Given the description of an element on the screen output the (x, y) to click on. 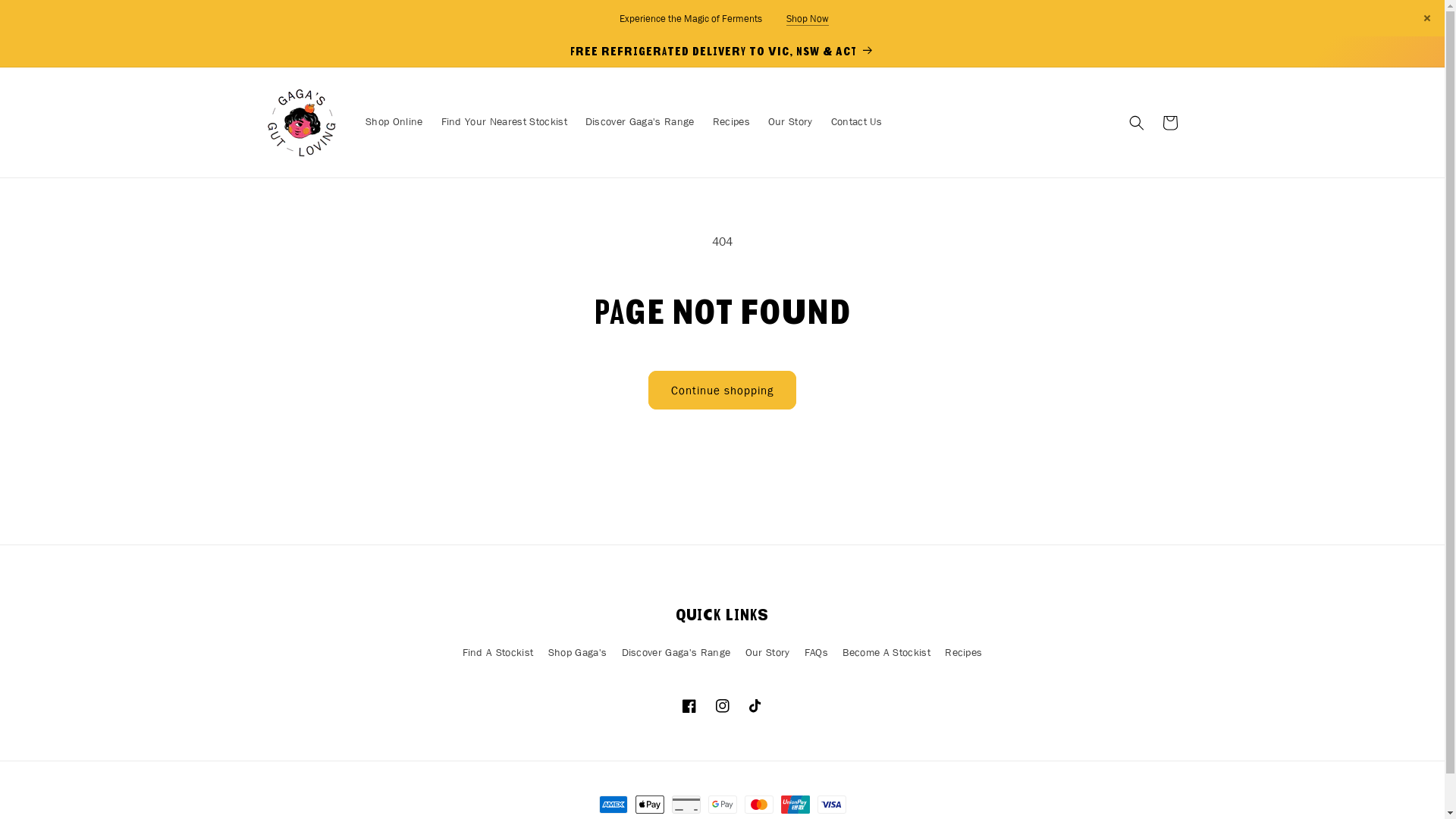
Continue shopping Element type: text (722, 389)
Become A Stockist Element type: text (885, 652)
Contact Us Element type: text (856, 122)
FAQs Element type: text (816, 652)
Discover Gaga's Range Element type: text (639, 122)
Find A Stockist Element type: text (497, 654)
Recipes Element type: text (731, 122)
Facebook Element type: text (688, 705)
Find Your Nearest Stockist Element type: text (504, 122)
Cart Element type: text (1169, 122)
Shop Online Element type: text (394, 122)
Shop Gaga's Element type: text (577, 652)
Discover Gaga's Range Element type: text (676, 652)
Our Story Element type: text (767, 652)
Recipes Element type: text (963, 652)
TikTok Element type: text (754, 705)
Instagram Element type: text (721, 705)
Our Story Element type: text (790, 122)
Free refrigerated delivery to VIC, NSW & ACT Element type: text (722, 51)
